Given the description of an element on the screen output the (x, y) to click on. 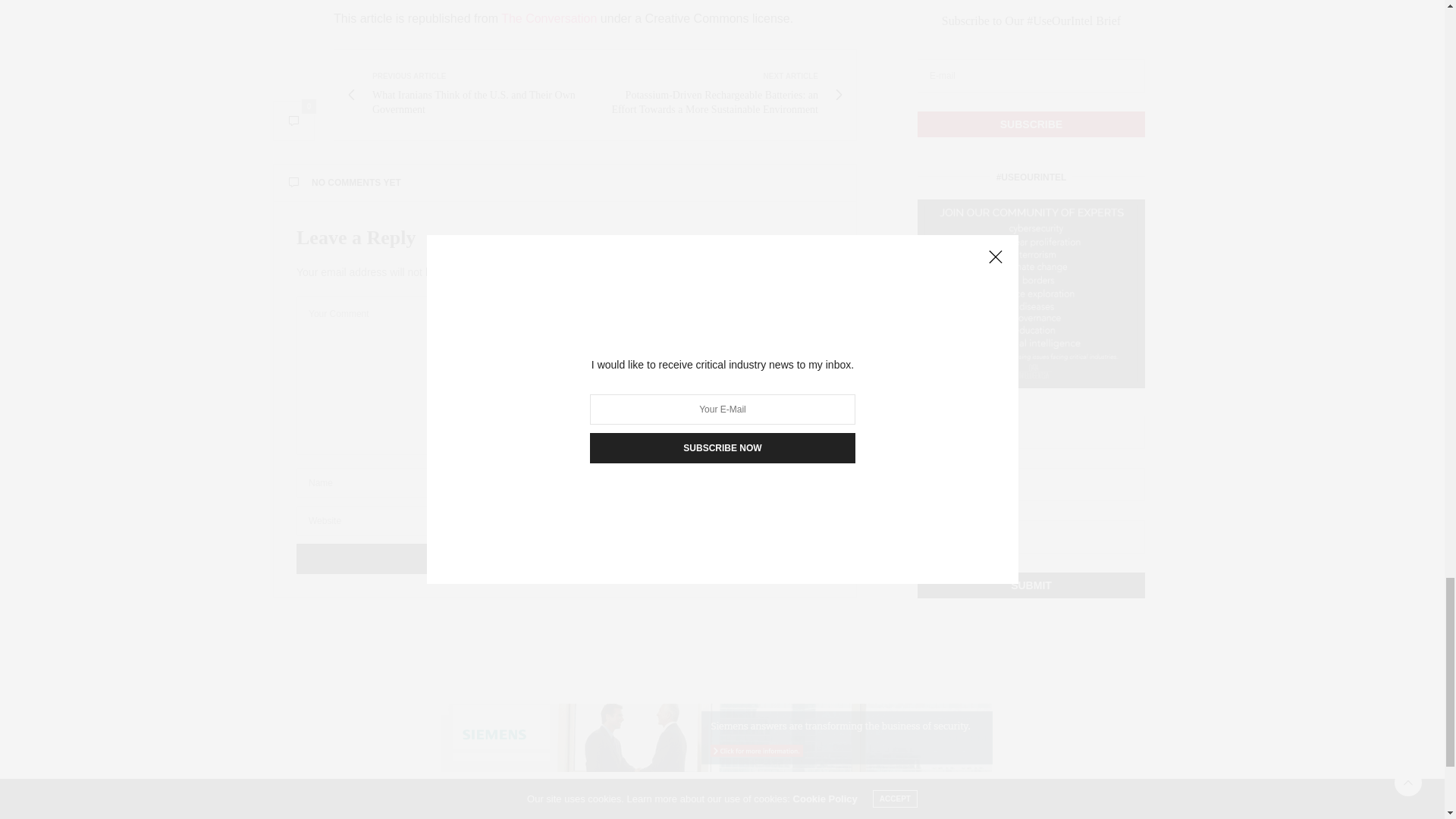
Submit Comment (564, 558)
